Given the description of an element on the screen output the (x, y) to click on. 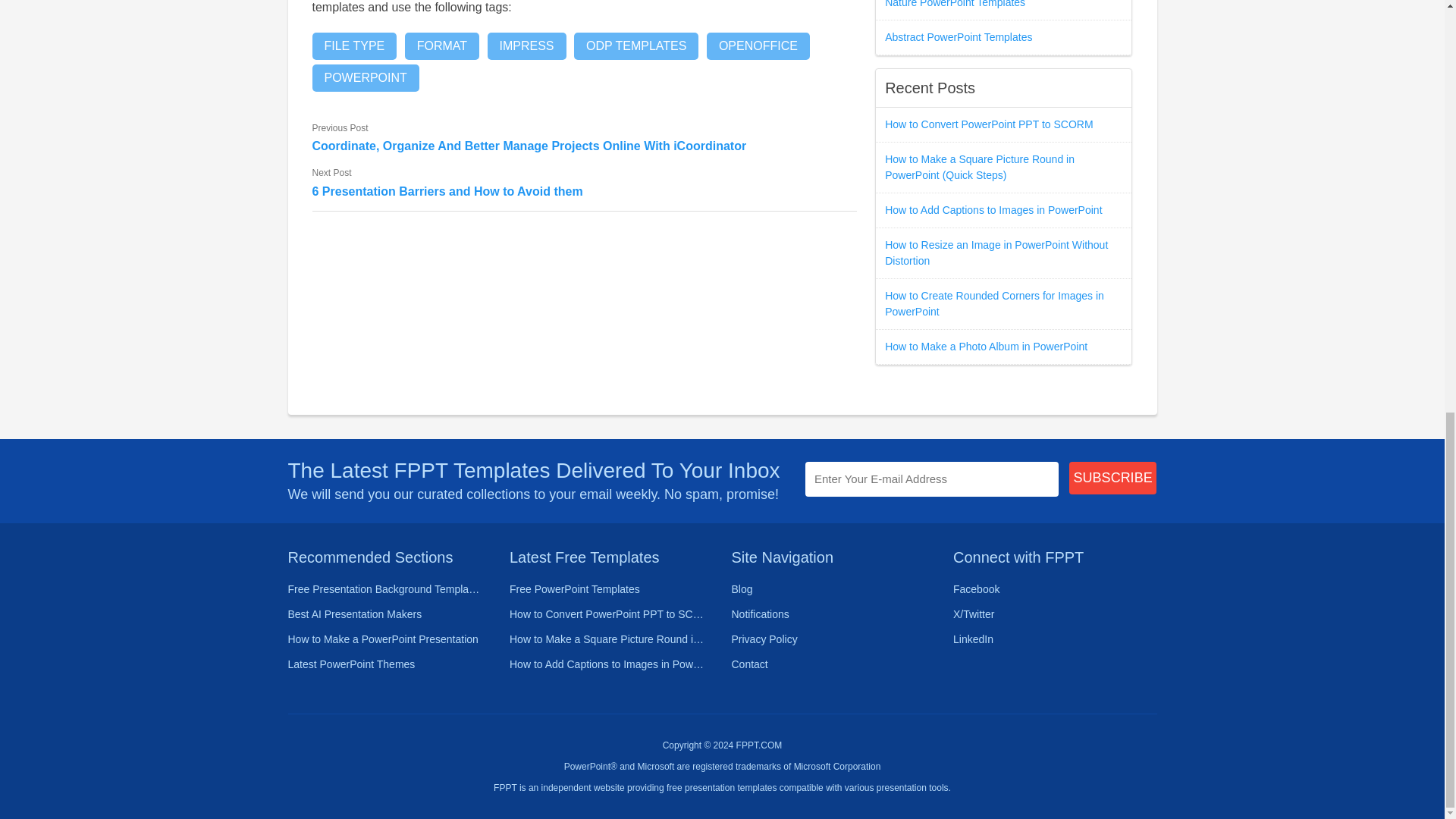
Subscribe (1112, 477)
FORMAT (441, 45)
OPENOFFICE (757, 45)
IMPRESS (526, 45)
6 Presentation Barriers and How to Avoid them (585, 190)
FILE TYPE (355, 45)
POWERPOINT (366, 77)
ODP TEMPLATES (635, 45)
